Given the description of an element on the screen output the (x, y) to click on. 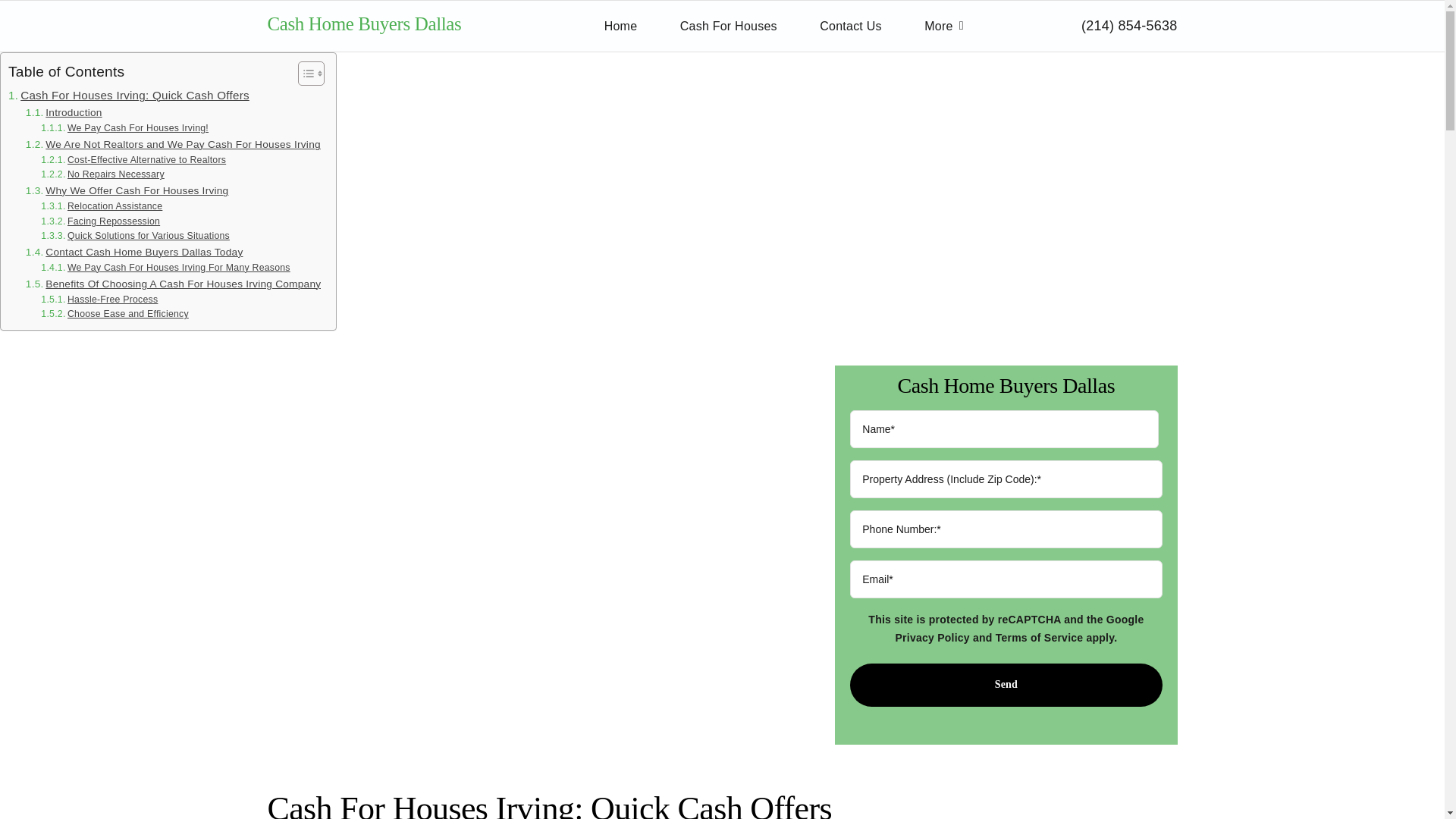
Relocation Assistance (100, 206)
Hassle-Free Process (98, 299)
Cash For Houses Irving: Quick Cash Offers (128, 95)
Send (1005, 684)
Introduction (63, 112)
Facing Repossession (100, 222)
Cash For Houses (728, 25)
Why We Offer Cash For Houses Irving (127, 190)
We Pay Cash For Houses Irving For Many Reasons (164, 268)
Contact Cash Home Buyers Dallas Today (134, 252)
